Given the description of an element on the screen output the (x, y) to click on. 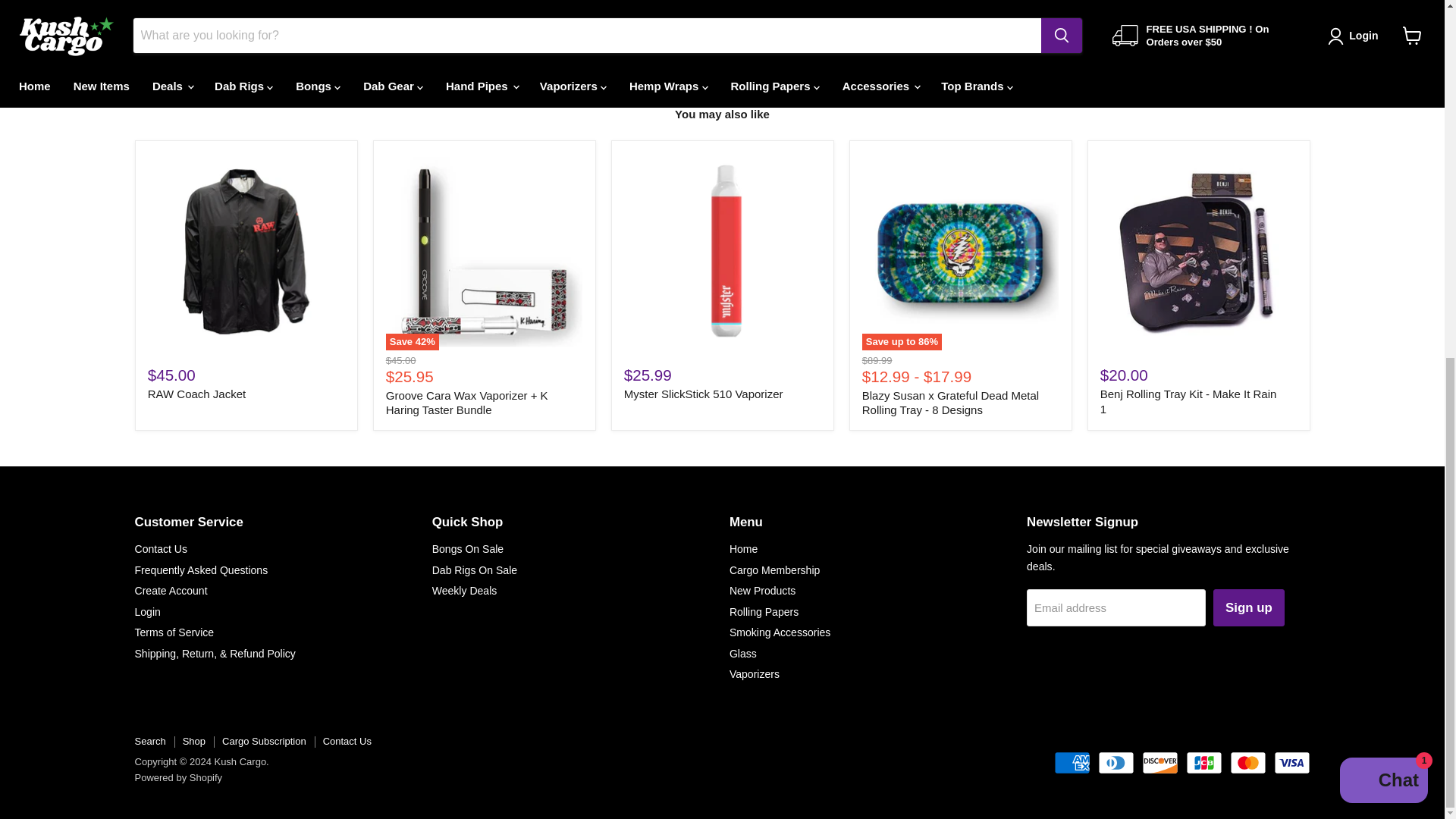
Shopify online store chat (1383, 150)
American Express (1072, 762)
